Given the description of an element on the screen output the (x, y) to click on. 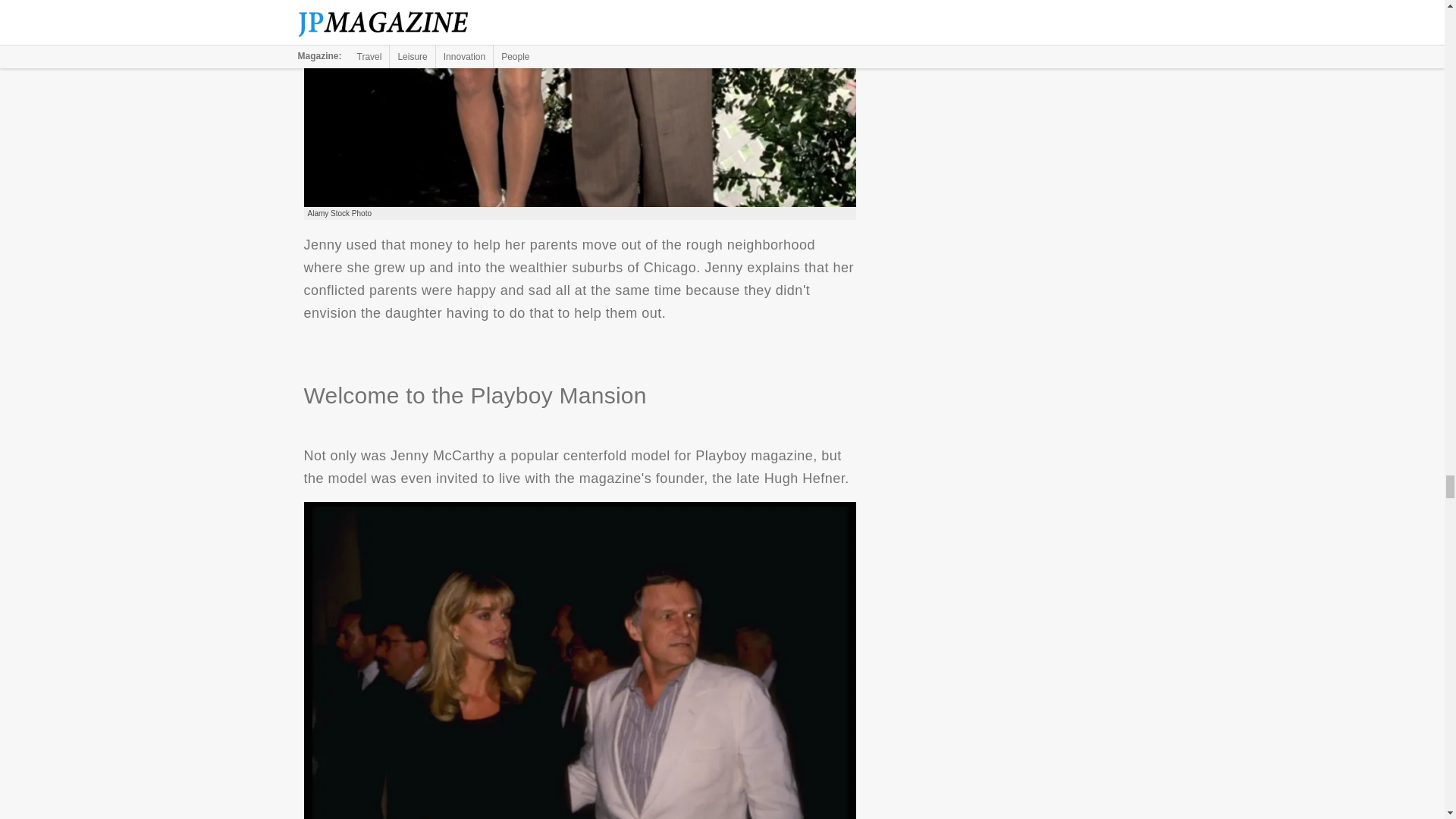
Things Are Looking Up (579, 103)
